Given the description of an element on the screen output the (x, y) to click on. 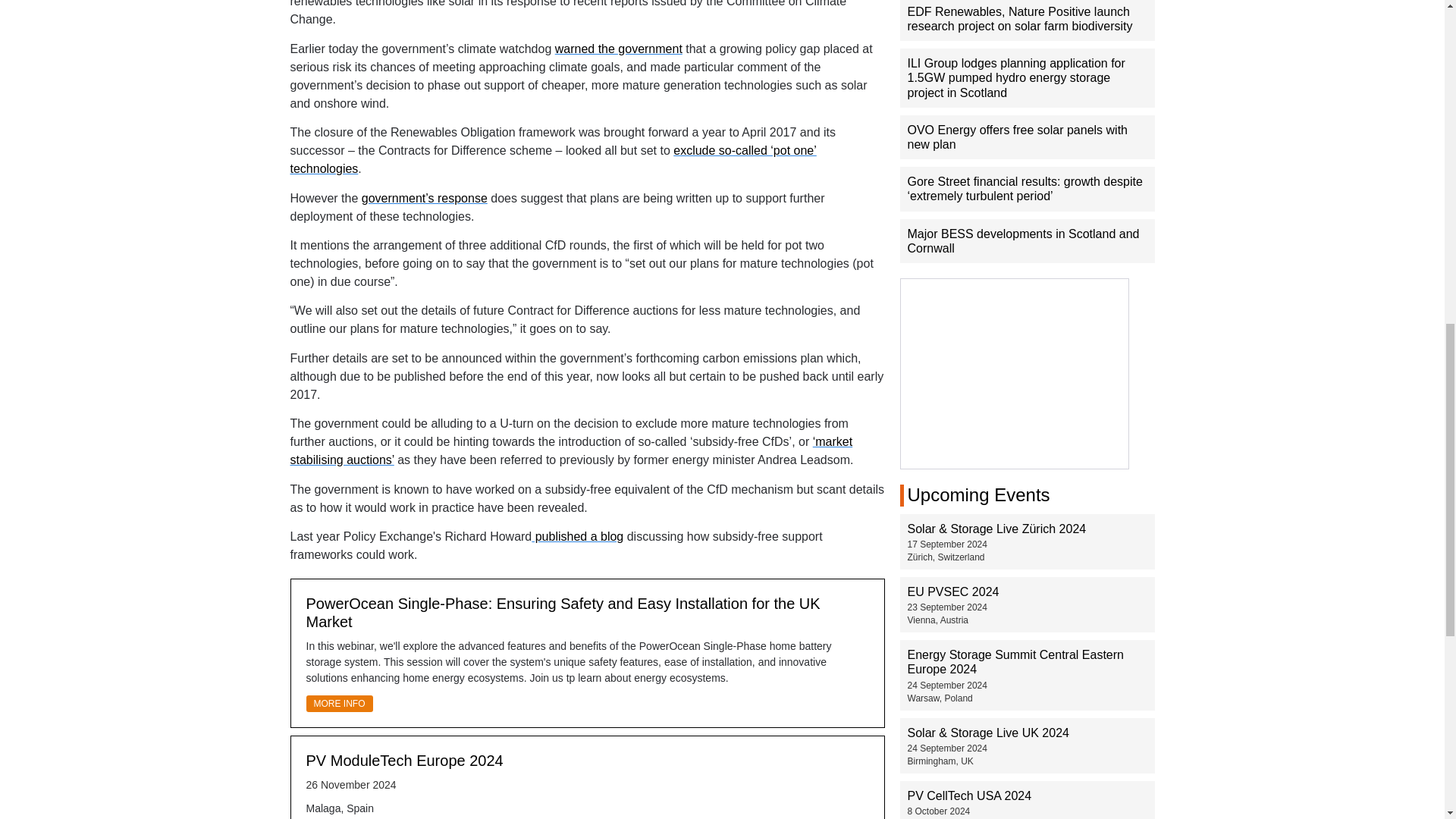
PV ModuleTech Europe 2024 (404, 760)
MORE INFO (338, 703)
warned the government (618, 48)
published a blog (577, 535)
3rd party ad content (1014, 373)
